Given the description of an element on the screen output the (x, y) to click on. 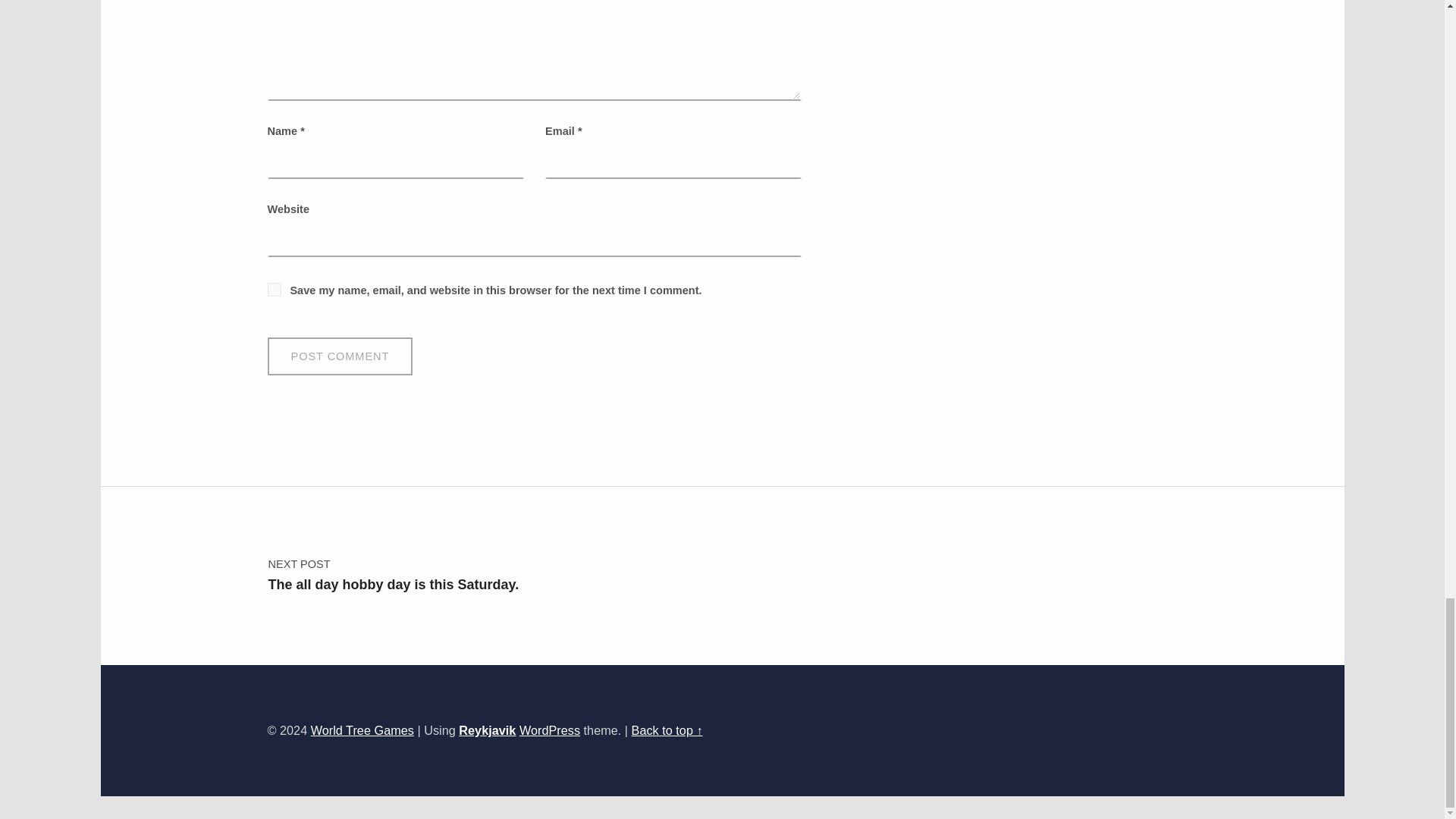
yes (273, 289)
Post Comment (339, 356)
Post Comment (339, 356)
